Given the description of an element on the screen output the (x, y) to click on. 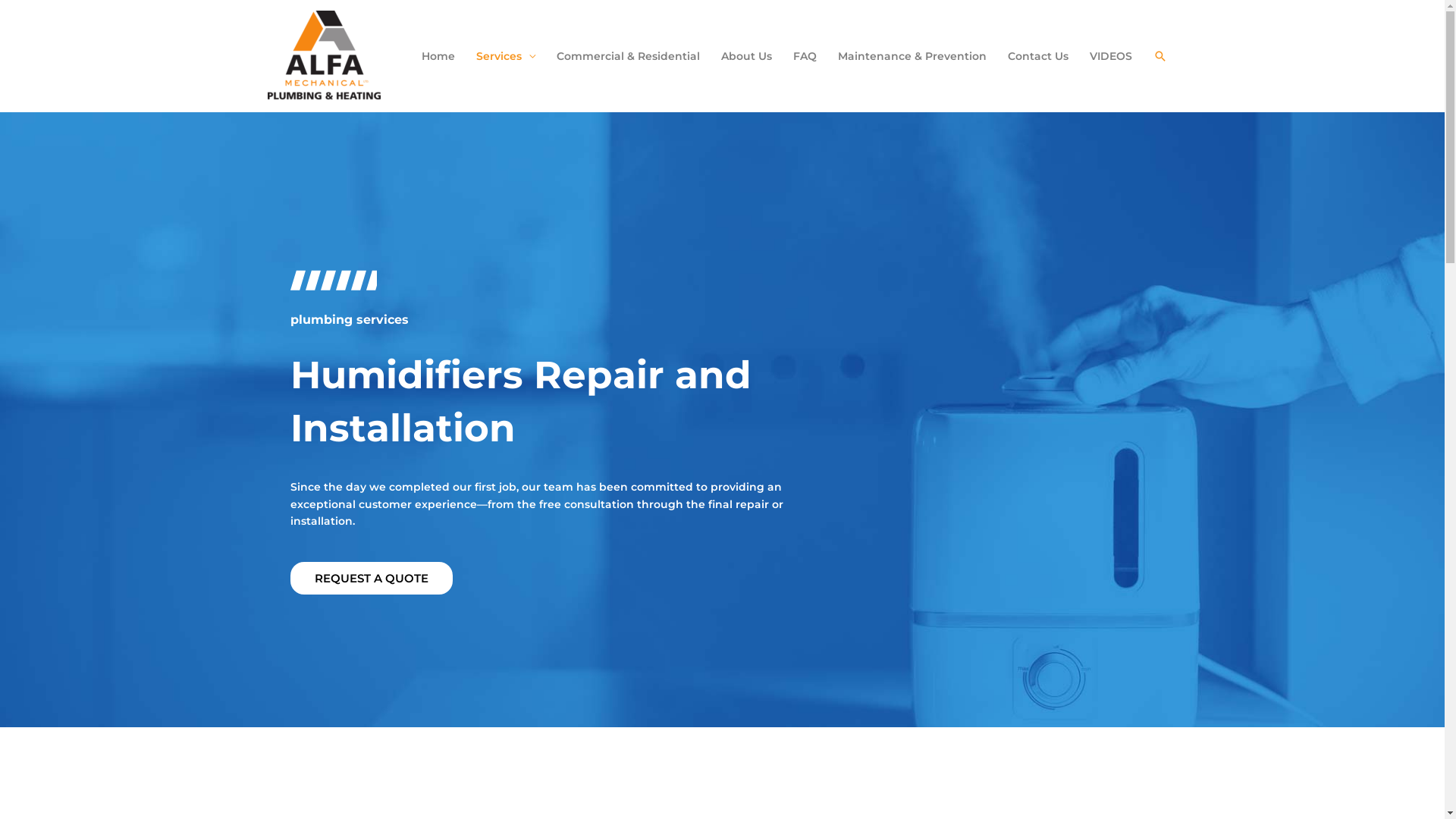
Contact Us Element type: text (1037, 56)
About Us Element type: text (745, 56)
VIDEOS Element type: text (1110, 56)
Commercial & Residential Element type: text (628, 56)
FAQ Element type: text (804, 56)
Search Element type: text (1159, 55)
Maintenance & Prevention Element type: text (911, 56)
Home Element type: text (438, 56)
REQUEST A QUOTE Element type: text (370, 577)
Services Element type: text (505, 56)
